Given the description of an element on the screen output the (x, y) to click on. 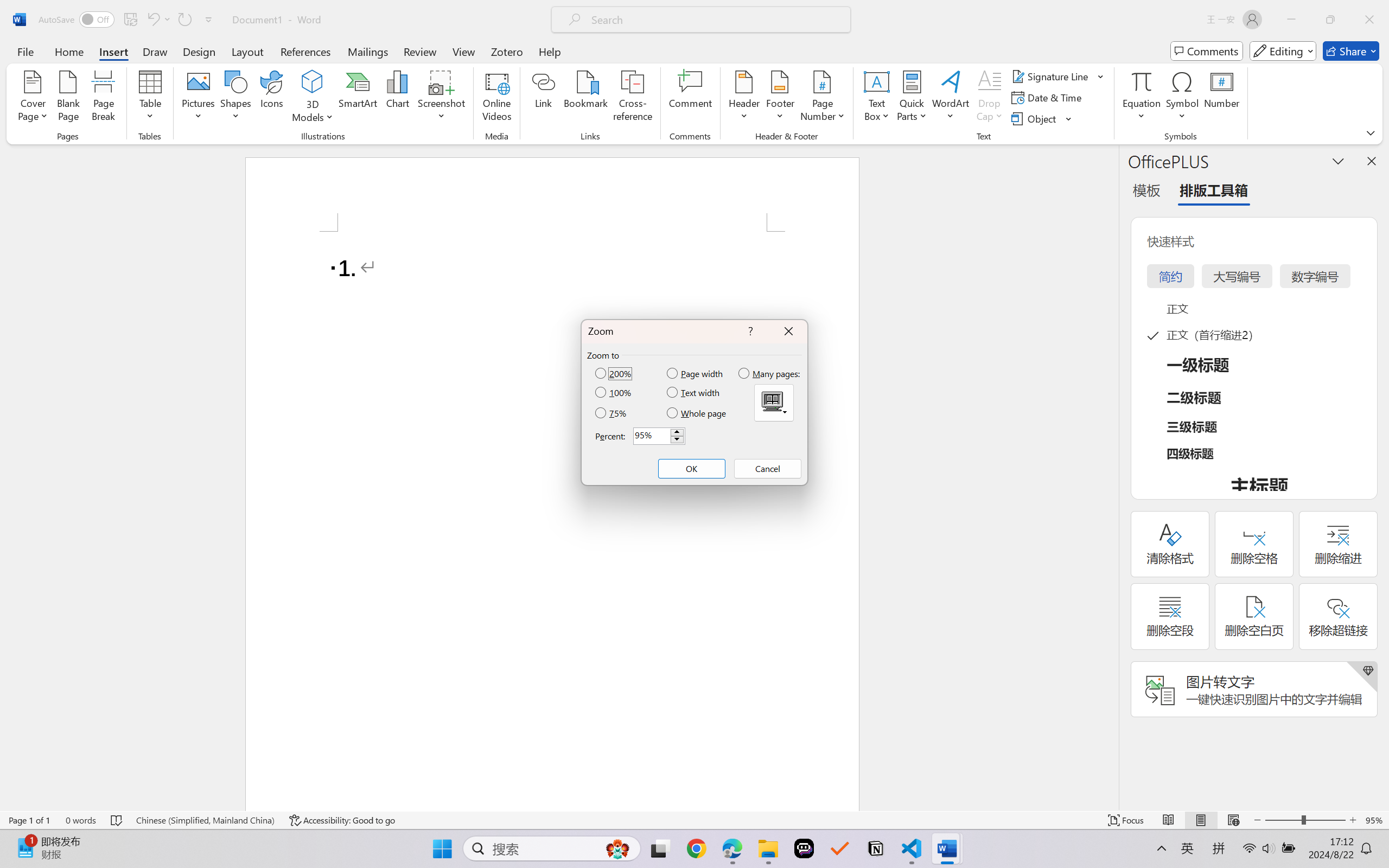
Undo Number Default (158, 19)
Text width (694, 392)
WordArt (950, 97)
